Given the description of an element on the screen output the (x, y) to click on. 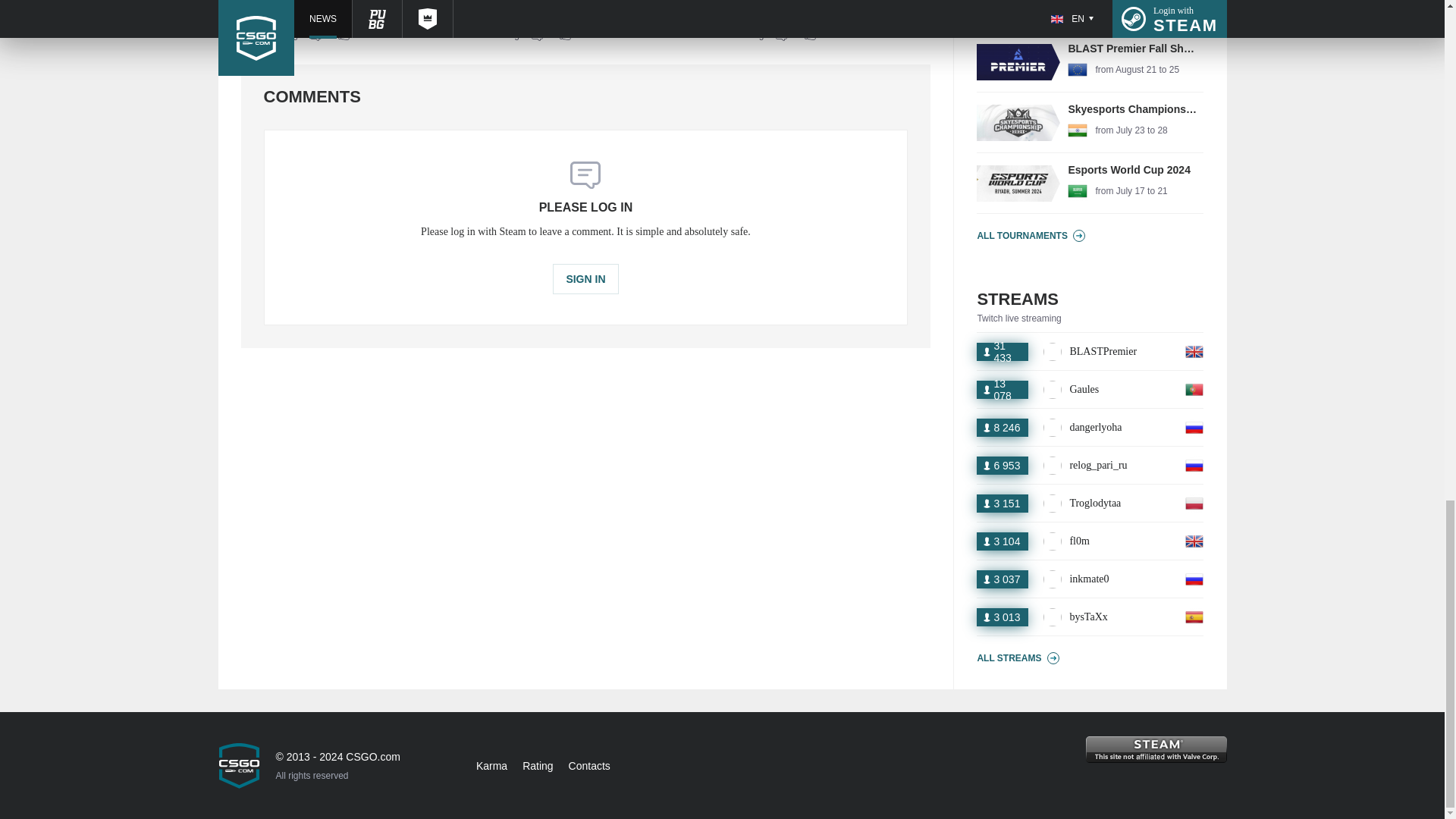
SIGN IN (825, 34)
